Given the description of an element on the screen output the (x, y) to click on. 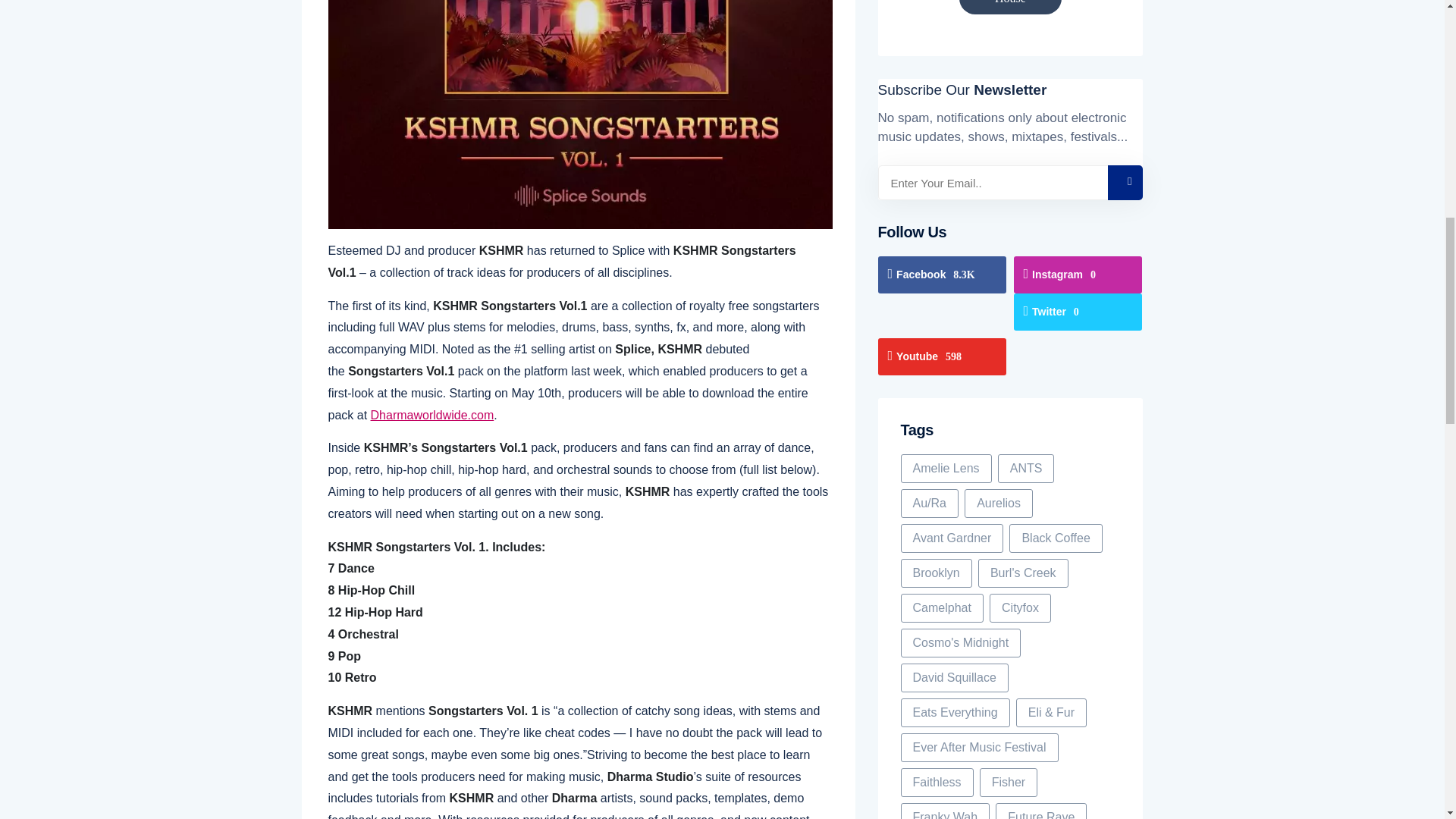
Facebook 8.3K (941, 274)
Instagram 0 (1077, 274)
Dharmaworldwide.com (433, 415)
Twitter 0 (1077, 311)
